Given the description of an element on the screen output the (x, y) to click on. 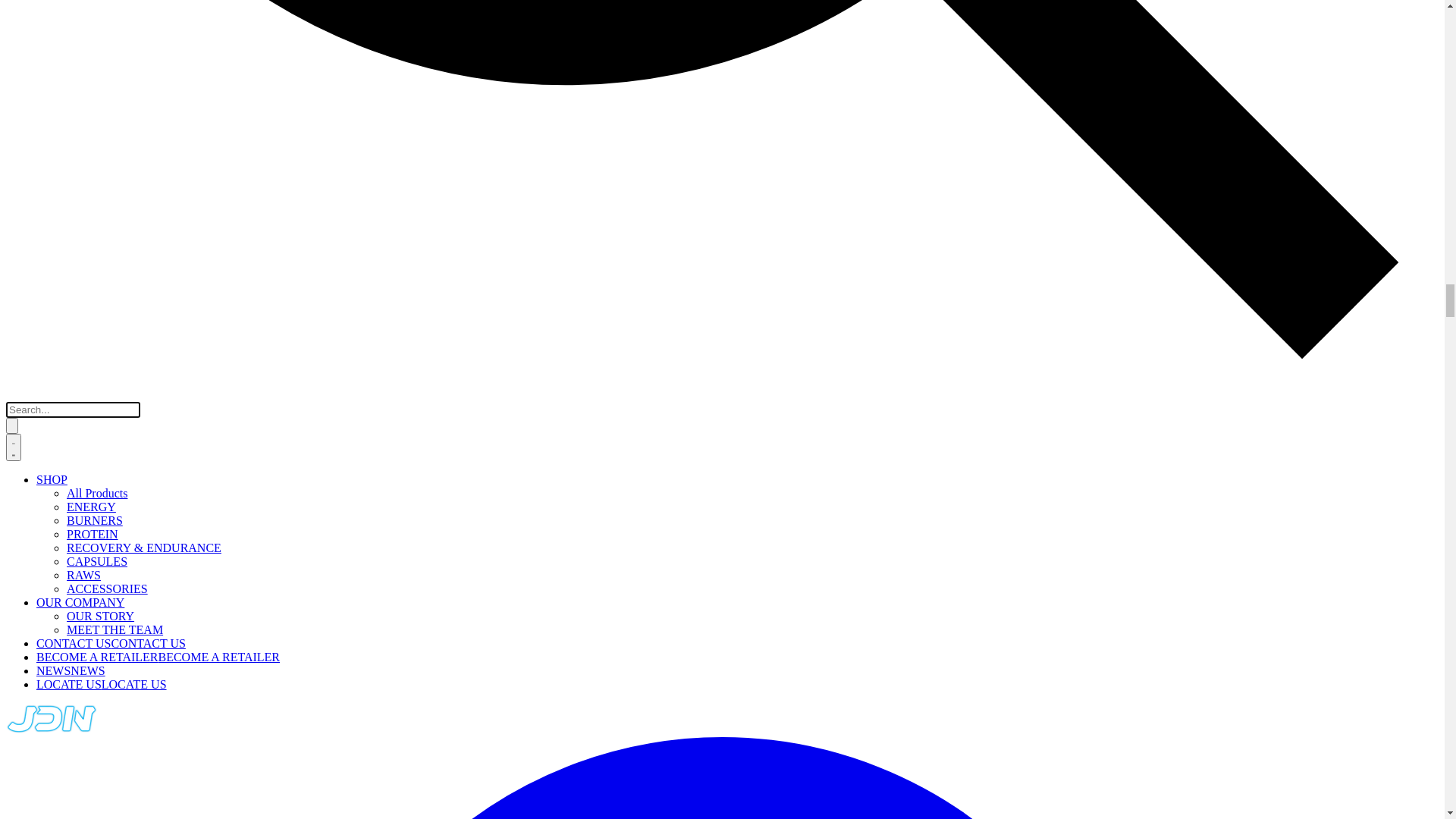
PROTEIN Element type: text (31, 98)
ACCESSORIES Element type: text (46, 153)
RECOVERY & ENDURANCE Element type: text (83, 112)
NEWS Element type: text (23, 237)
ENERGY Element type: text (30, 71)
BURNERS Element type: text (34, 84)
MEET THE TEAM Element type: text (54, 196)
OUR COMPANY Element type: text (50, 168)
OUR STORY Element type: text (39, 182)
All Products Element type: text (36, 57)
LOCATE US Element type: text (38, 250)
SHOP Element type: text (26, 43)
Skip to content Element type: text (42, 12)
CAPSULES Element type: text (36, 125)
RAWS Element type: text (23, 139)
CONTACT US Element type: text (43, 209)
BECOME A RETAILER Element type: text (67, 223)
Account Element type: text (56, 276)
